Given the description of an element on the screen output the (x, y) to click on. 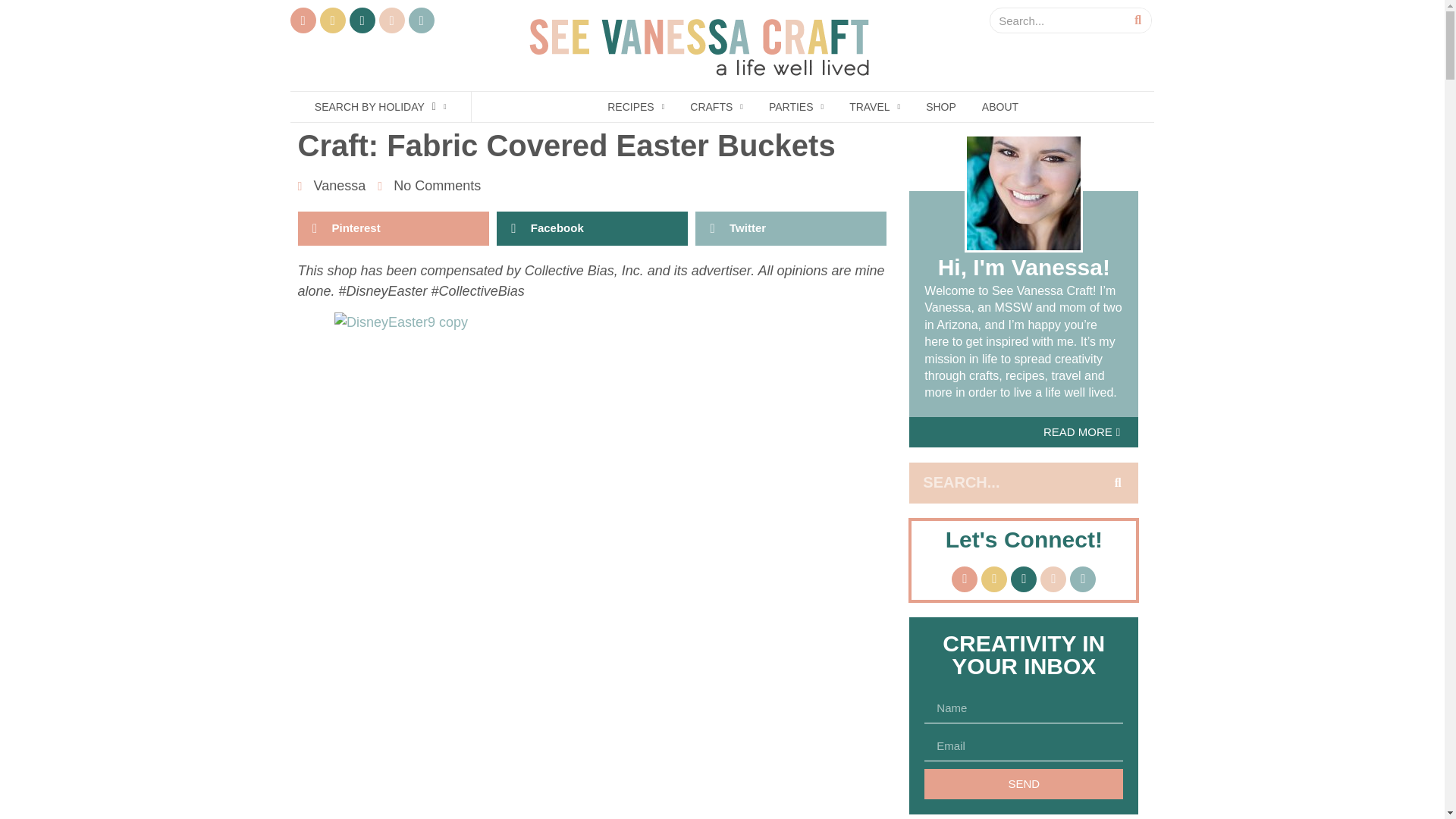
Search (1138, 20)
Search (1057, 20)
Search (1002, 482)
SEARCH BY HOLIDAY (380, 106)
RECIPES (635, 106)
Search (1117, 482)
profile-pic (1023, 193)
CRAFTS (716, 106)
